Given the description of an element on the screen output the (x, y) to click on. 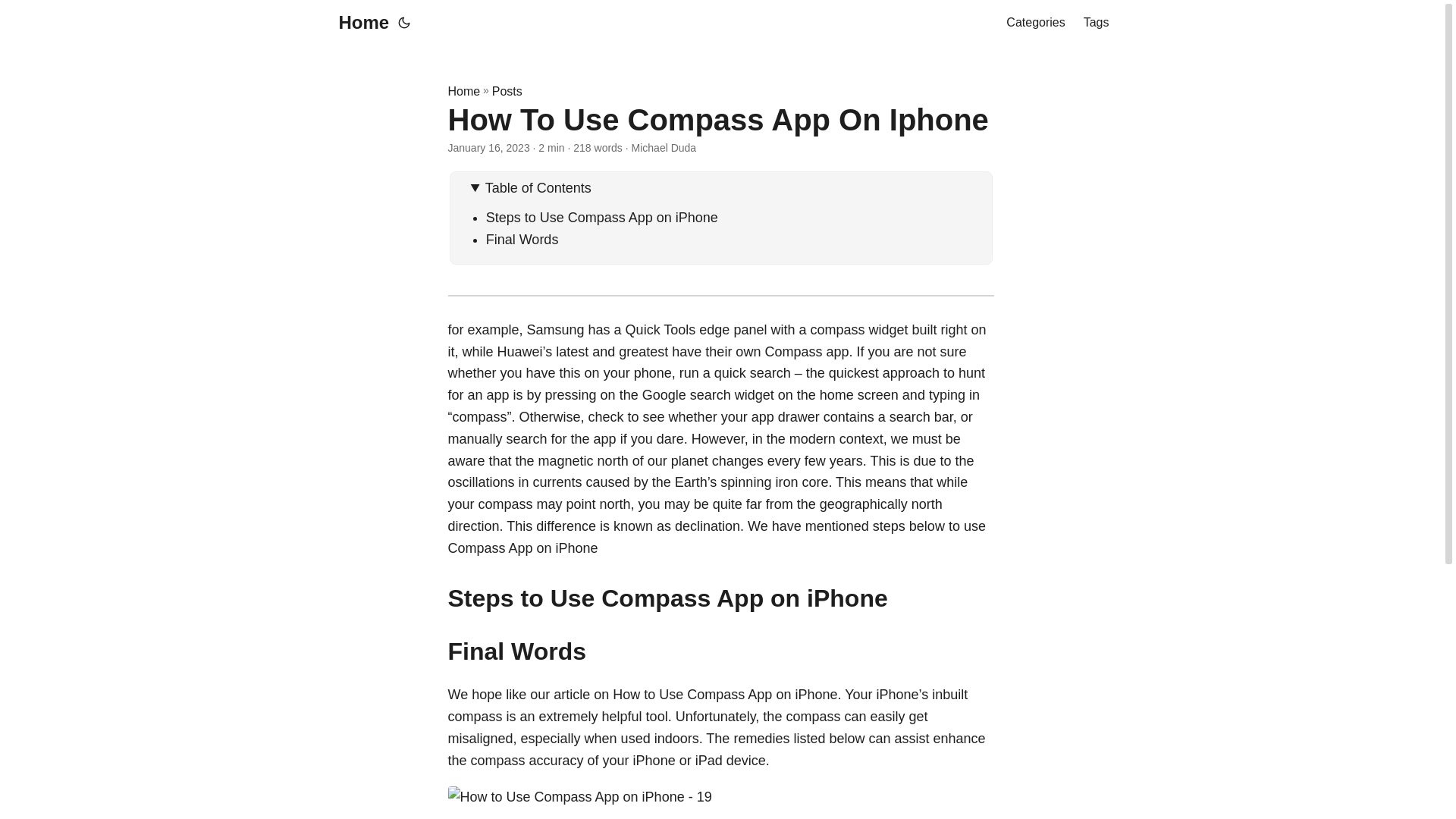
Posts (507, 91)
Home (359, 22)
Categories (1035, 22)
Home (463, 91)
Categories (1035, 22)
Steps to Use Compass App on iPhone (601, 217)
Final Words (522, 239)
